Given the description of an element on the screen output the (x, y) to click on. 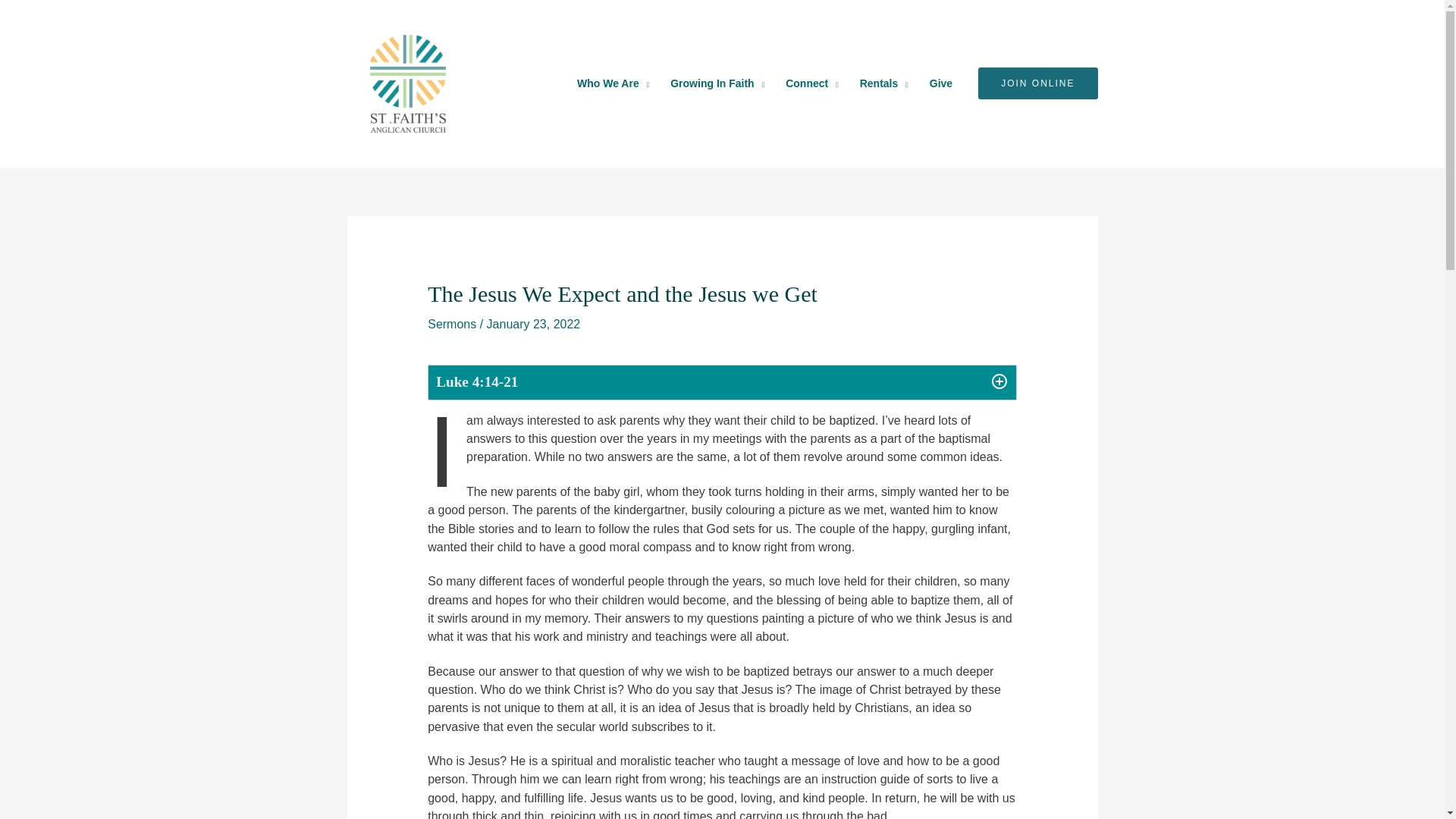
Rentals (883, 82)
Growing In Faith (716, 82)
Who We Are (612, 82)
JOIN ONLINE (1037, 83)
Connect (811, 82)
